Given the description of an element on the screen output the (x, y) to click on. 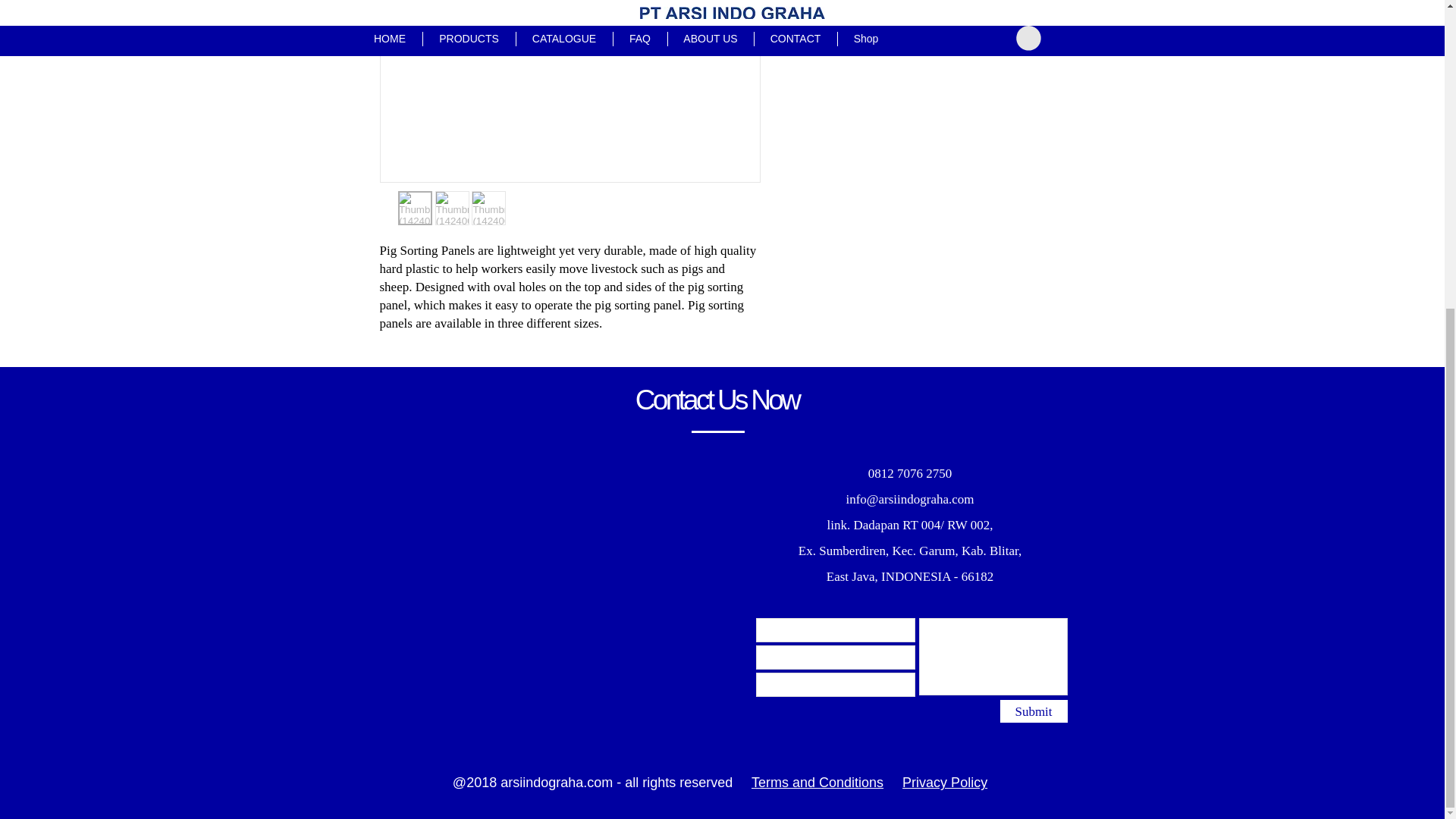
Privacy Policy (944, 782)
Submit (1032, 711)
Terms and Conditions (817, 782)
